Given the description of an element on the screen output the (x, y) to click on. 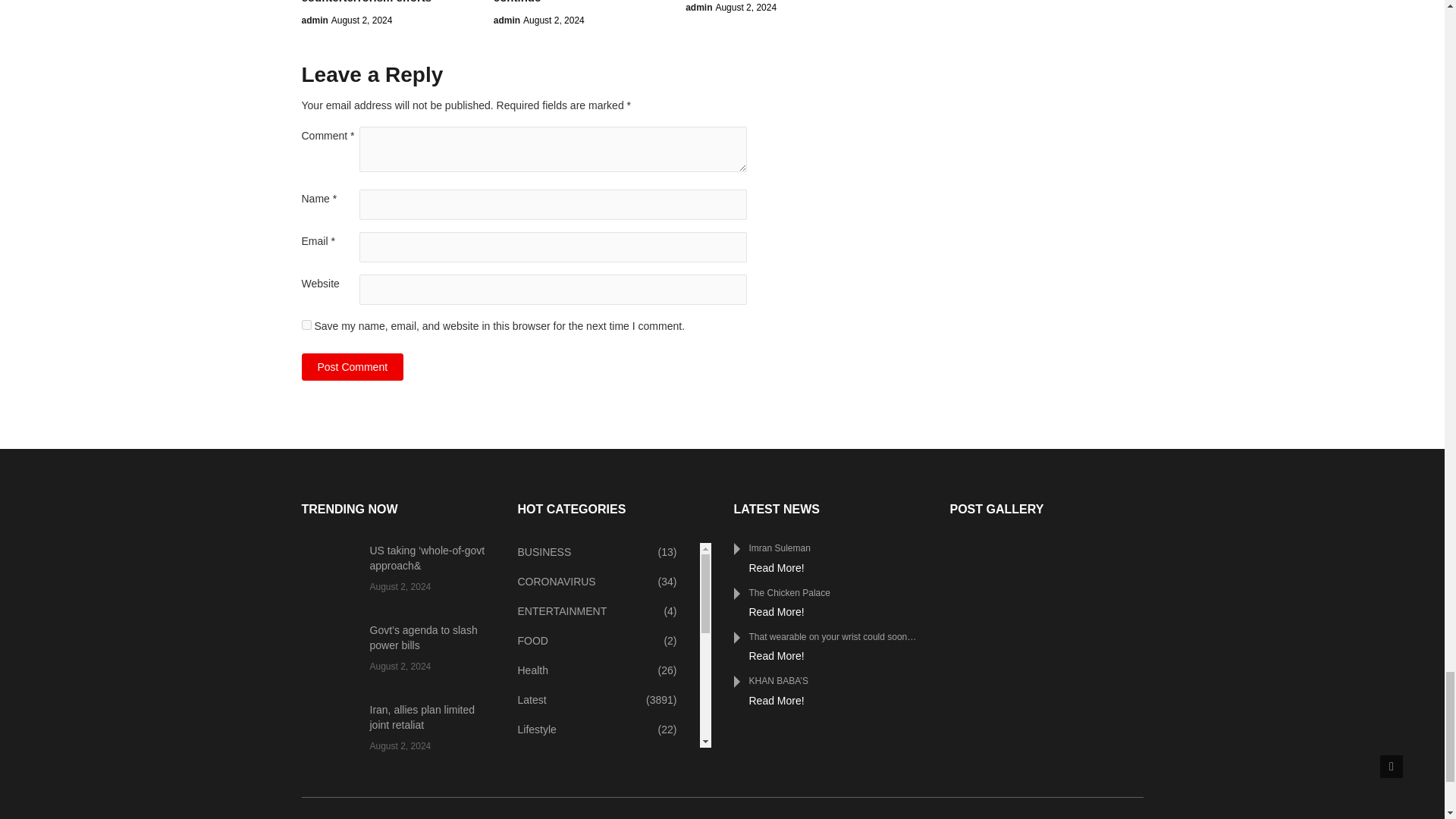
admin (315, 20)
admin (698, 7)
admin (506, 20)
Post Comment (352, 366)
yes (306, 325)
